Given the description of an element on the screen output the (x, y) to click on. 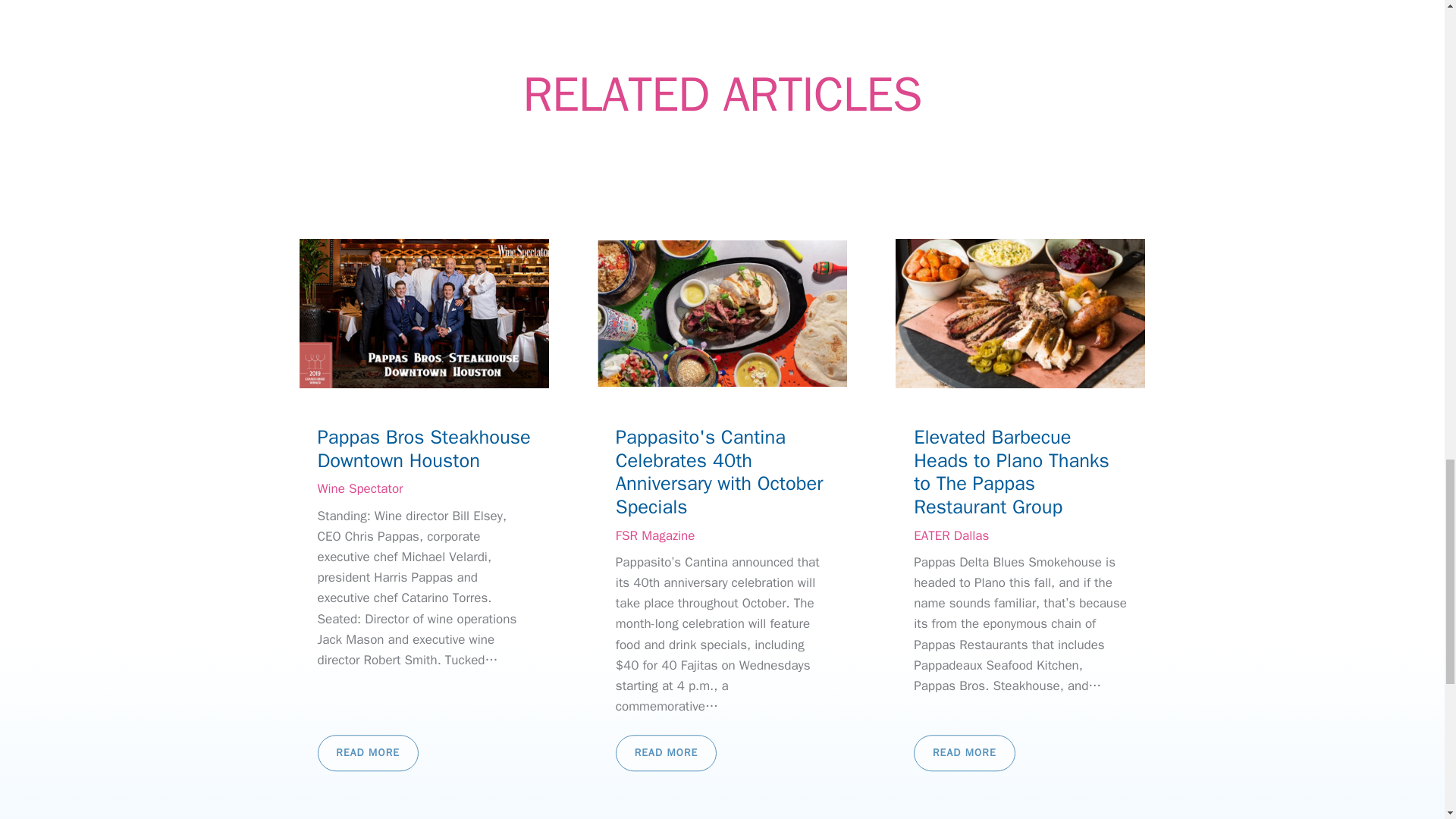
READ MORE (964, 753)
READ MORE (367, 753)
READ MORE (665, 753)
